Given the description of an element on the screen output the (x, y) to click on. 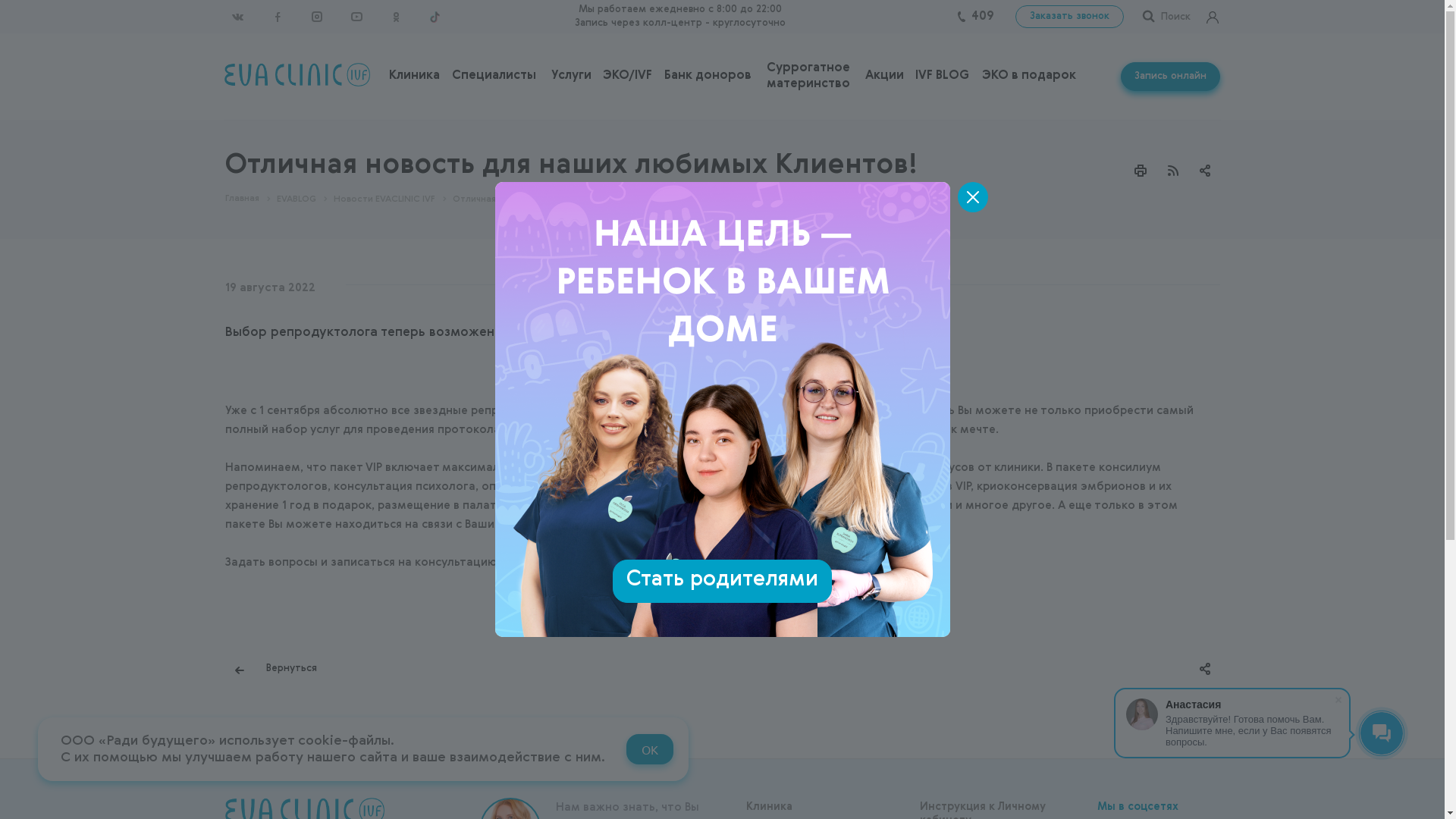
Facebook Element type: text (276, 16)
EVACLINIC IVF Element type: hover (297, 74)
YouTube Element type: text (355, 16)
EVABLOG Element type: text (295, 198)
Instagram Element type: text (316, 16)
IVF BLOG Element type: text (941, 75)
TikTok Element type: text (434, 16)
RSS Element type: text (1172, 170)
409 Element type: text (981, 16)
